Given the description of an element on the screen output the (x, y) to click on. 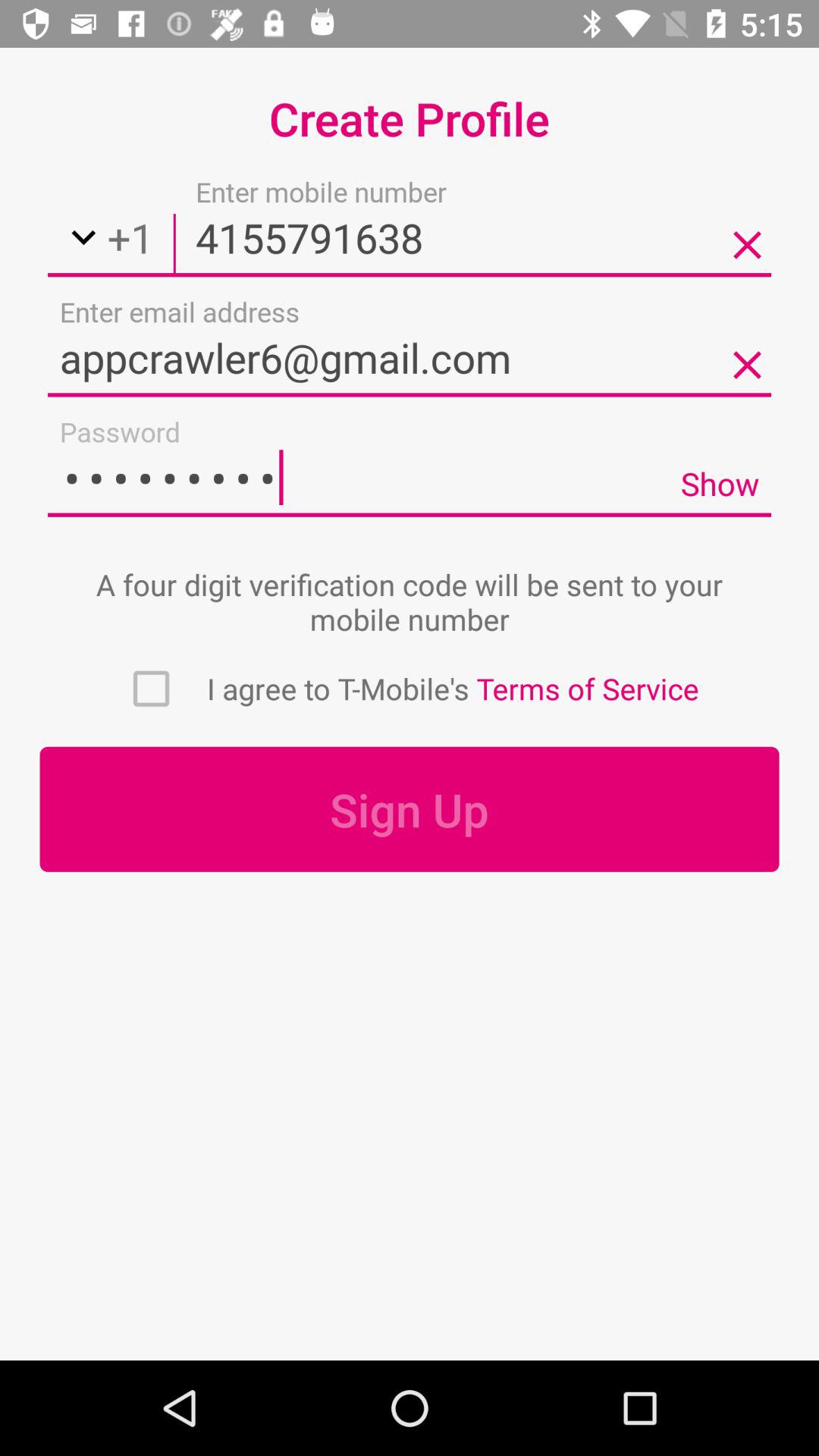
go to checkbox (151, 688)
